Given the description of an element on the screen output the (x, y) to click on. 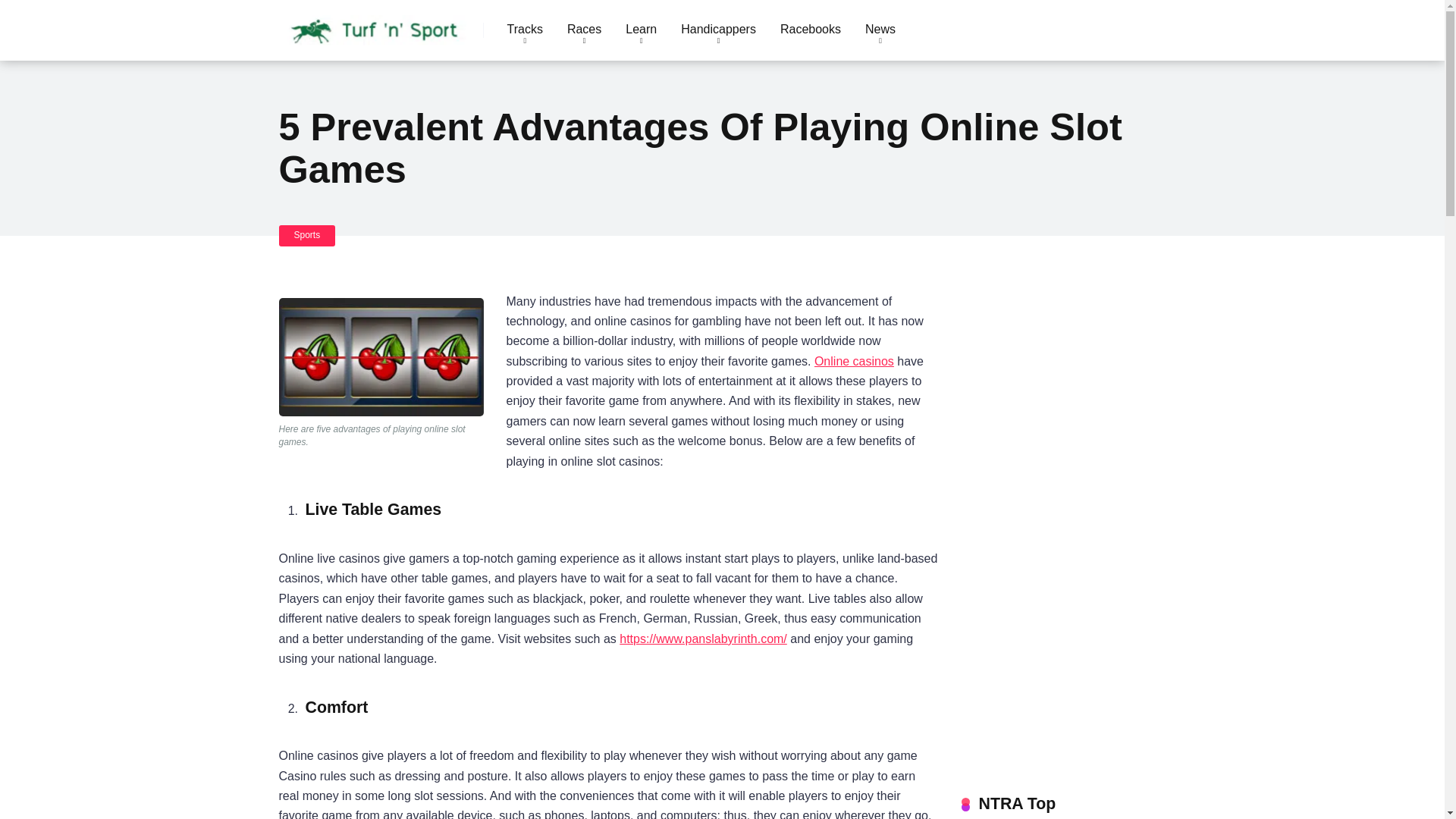
News (880, 30)
Expert Horse Racing Handicappers (718, 30)
Handicappers (718, 30)
Learn (640, 30)
Tracks (524, 30)
Horse Racing Reports and News - Turfnsport (375, 24)
Racebooks (810, 30)
Races (583, 30)
